Given the description of an element on the screen output the (x, y) to click on. 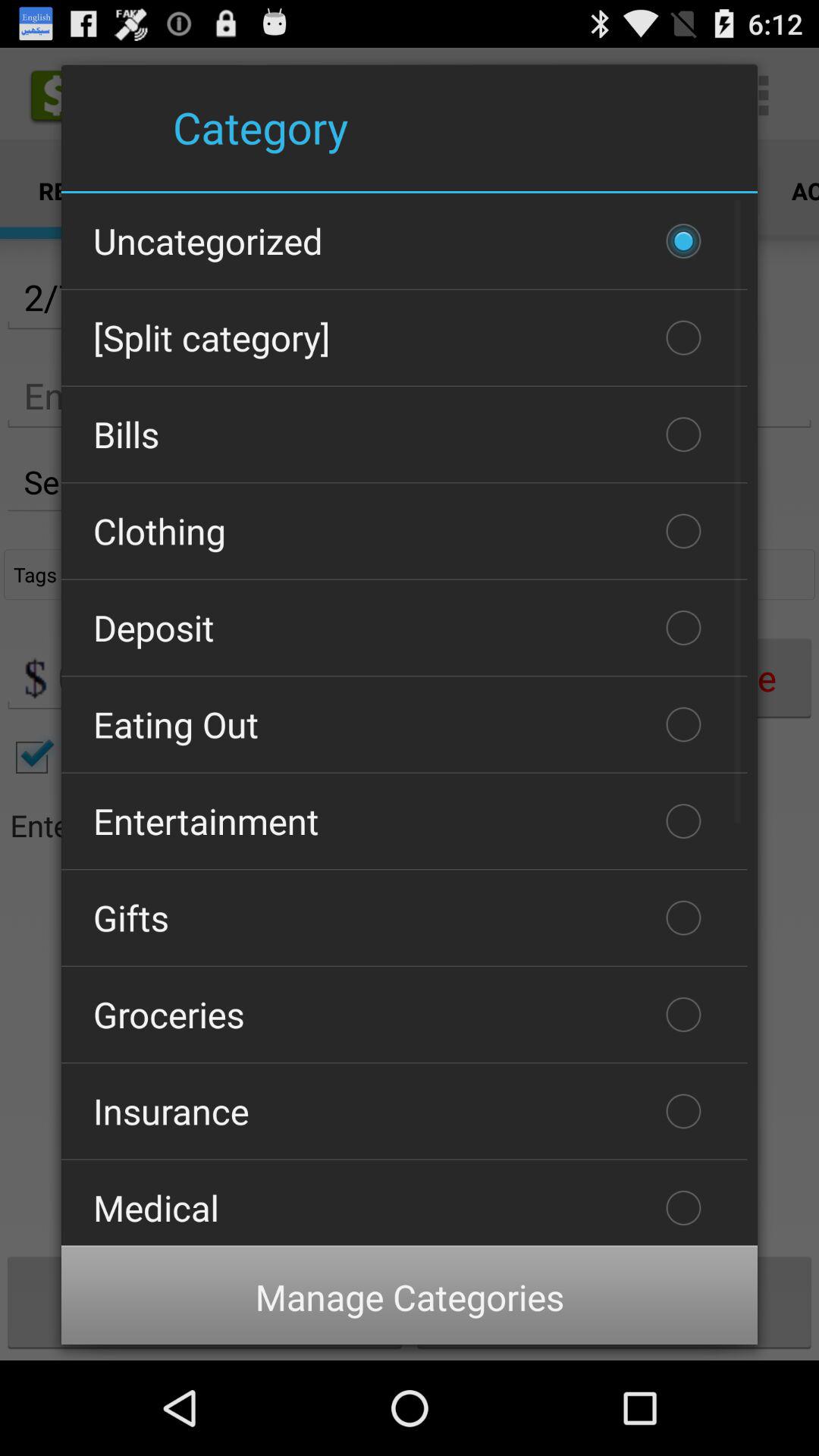
turn off the bills item (404, 434)
